Given the description of an element on the screen output the (x, y) to click on. 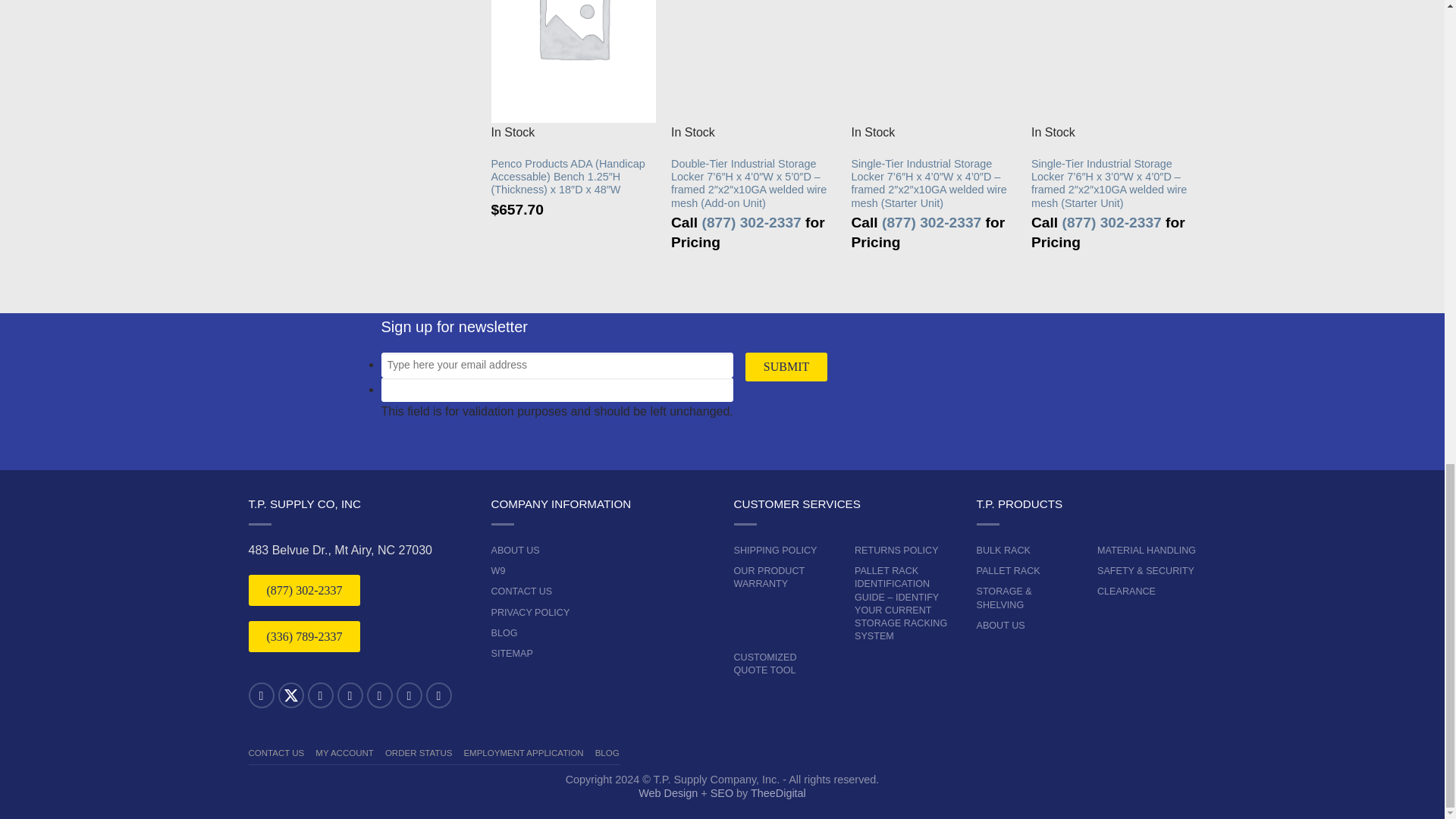
Email to a Friend (320, 695)
Share on LinkedIn (349, 695)
Share on Twitter (290, 695)
Pin on Pinterest (379, 695)
Share on Facebook (261, 695)
Submit (786, 366)
